Given the description of an element on the screen output the (x, y) to click on. 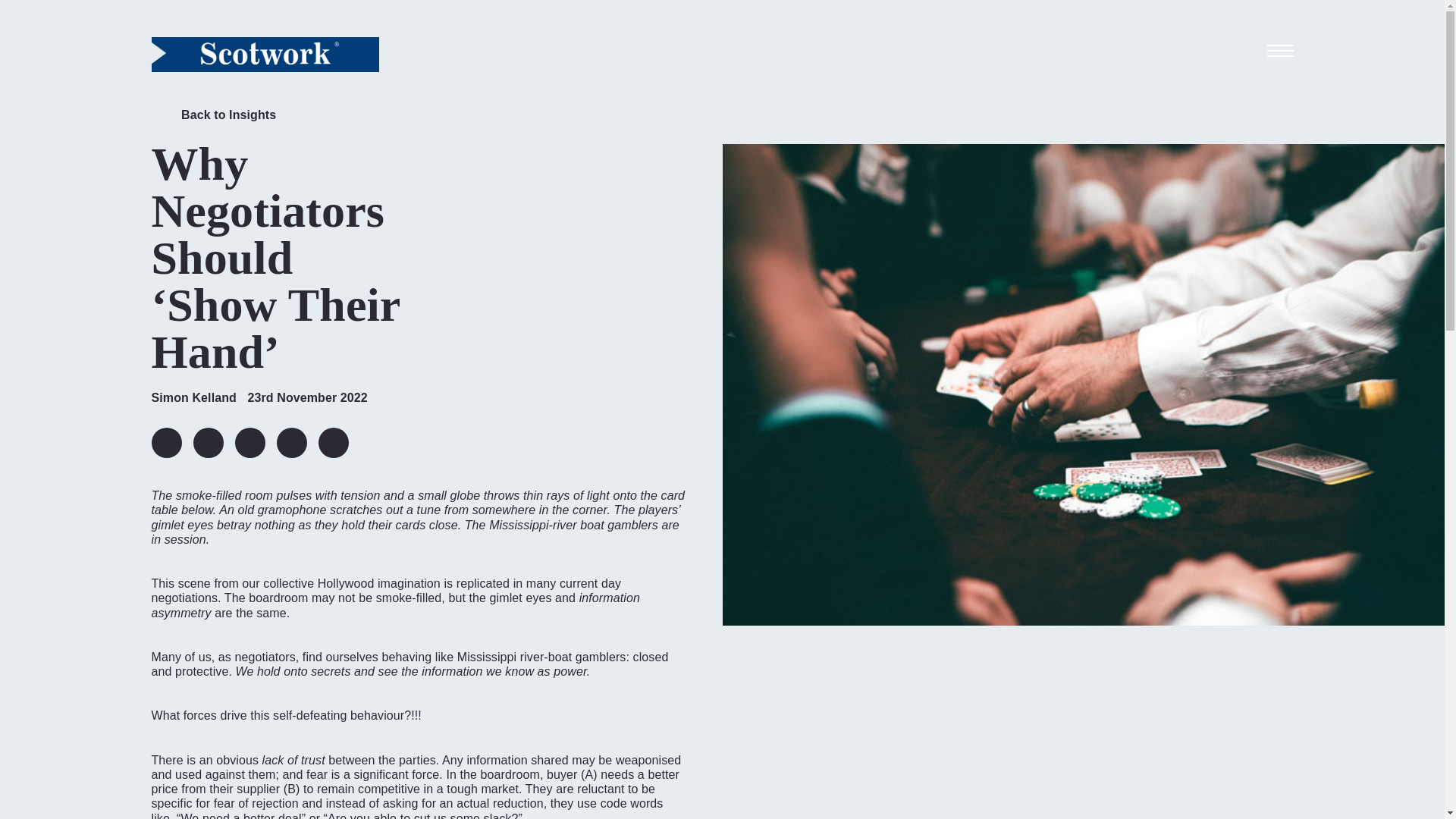
rss (333, 442)
linkedin (166, 442)
googleplus (290, 442)
facebook (249, 442)
Back to Insights (213, 117)
home (264, 54)
Back to Insights (213, 117)
twitter (207, 442)
